Given the description of an element on the screen output the (x, y) to click on. 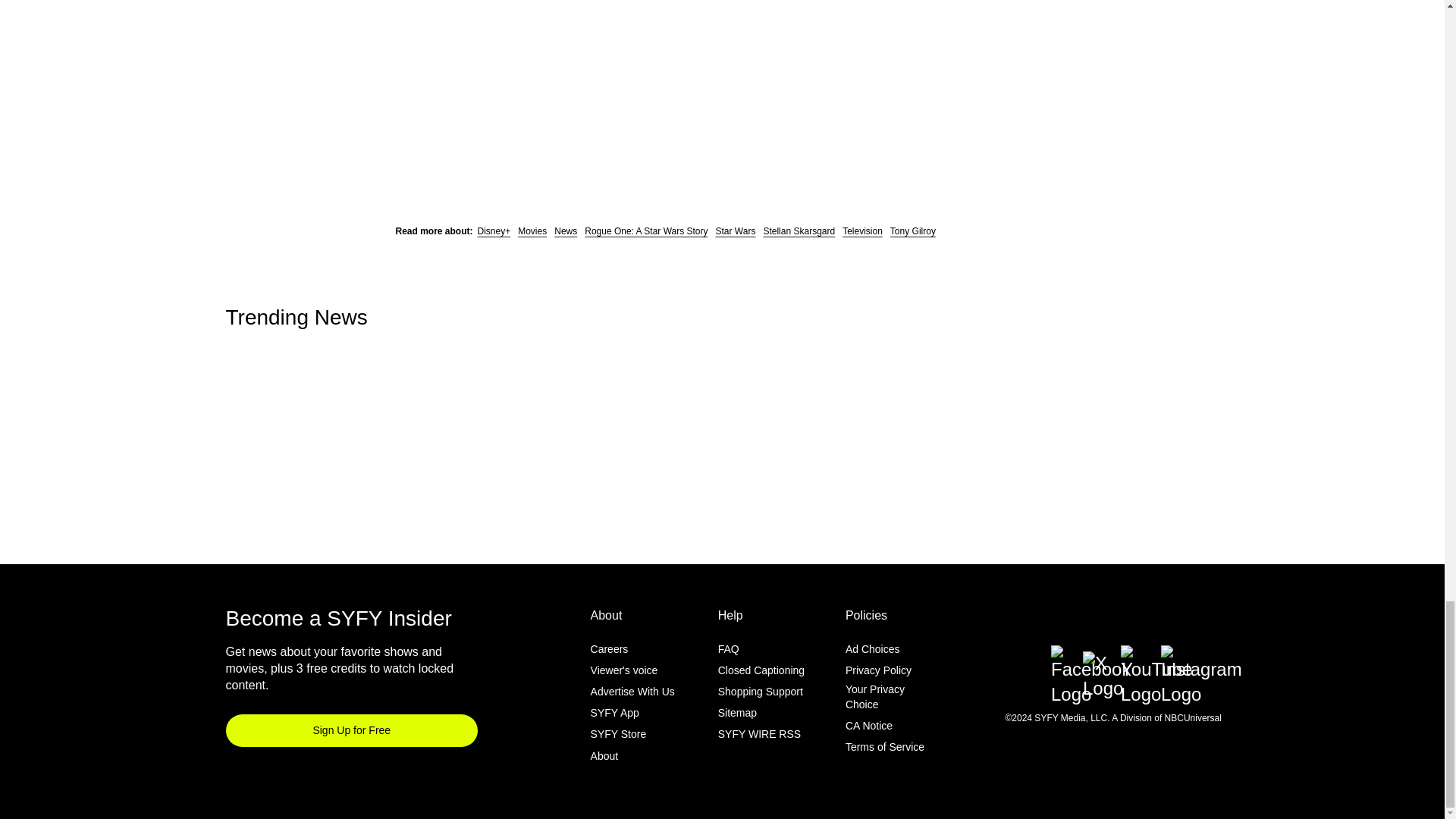
Stellan Skarsgard (798, 231)
Tony Gilroy (912, 231)
Advertise With Us (633, 692)
Television (862, 231)
Star Wars (735, 231)
Movies (532, 231)
News (565, 231)
Rogue One: A Star Wars Story (646, 231)
